Given the description of an element on the screen output the (x, y) to click on. 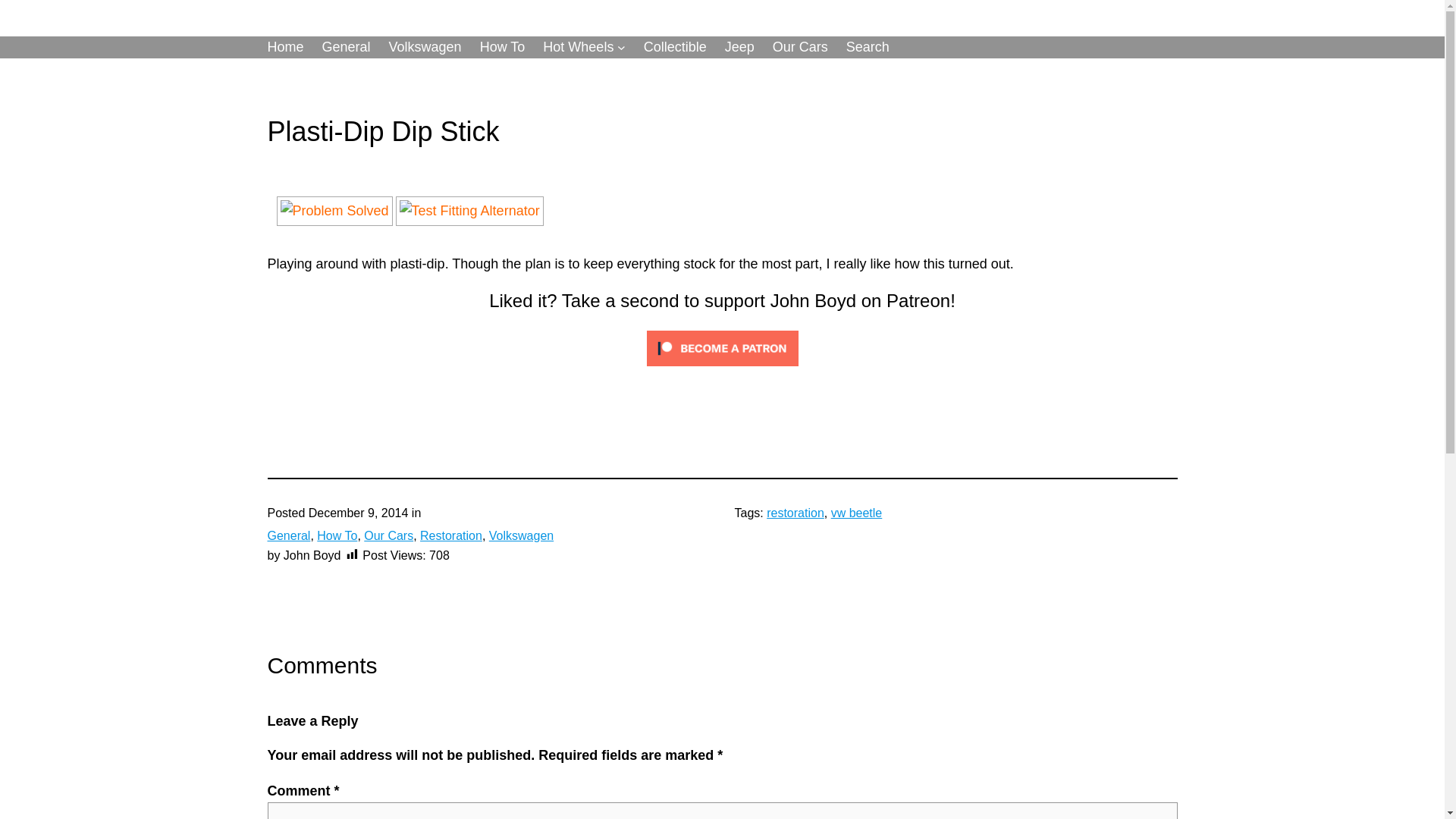
Jeep (739, 47)
Home (284, 47)
vw beetle (856, 512)
Search (867, 47)
Hot Wheels (577, 47)
Restoration (450, 535)
How To (336, 535)
Our Cars (800, 47)
General (288, 535)
Volkswagen (521, 535)
General (346, 47)
Collectible (674, 47)
Volkswagen (424, 47)
How To (502, 47)
restoration (795, 512)
